Given the description of an element on the screen output the (x, y) to click on. 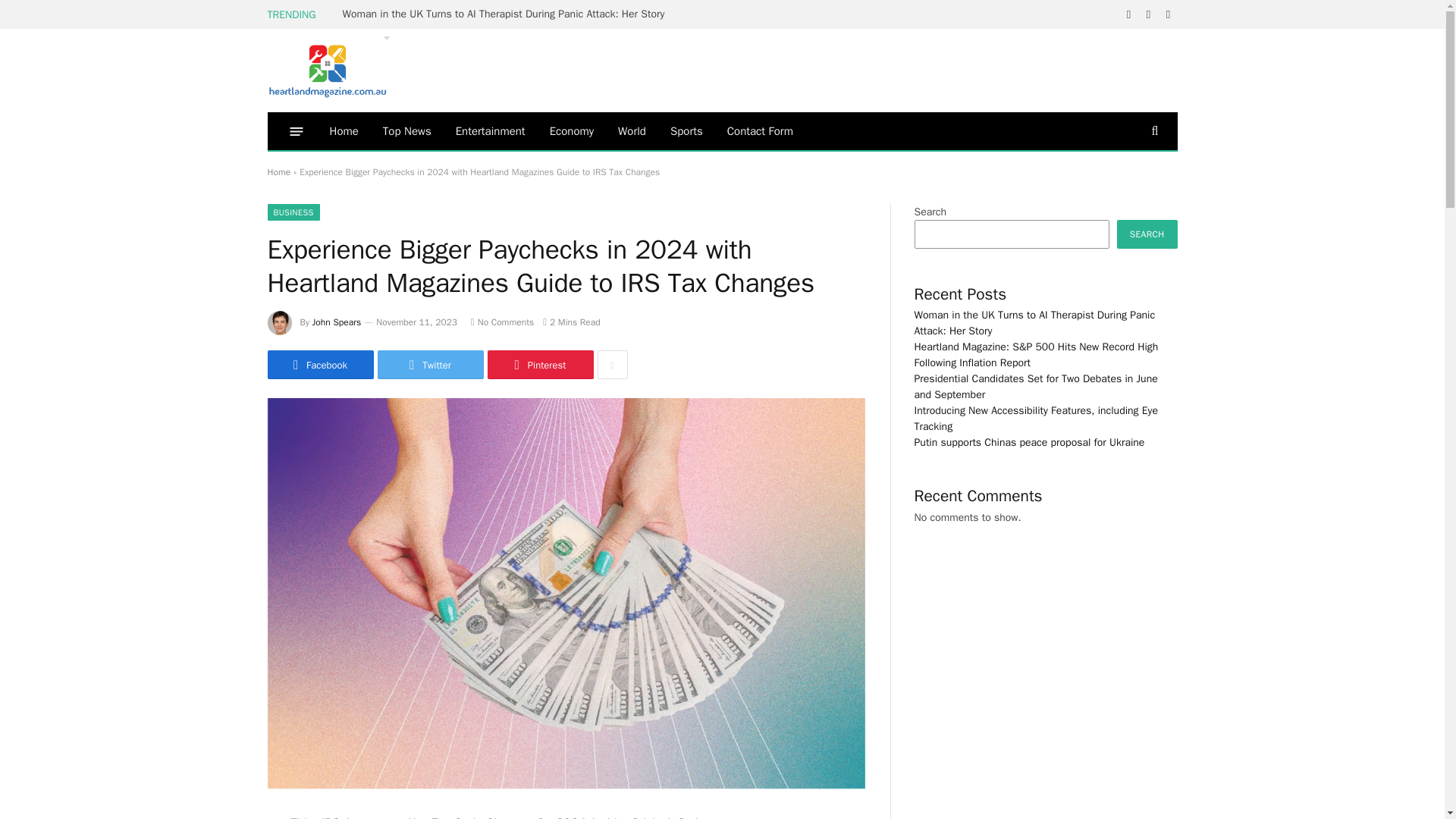
Sports (686, 130)
Share on Pinterest (539, 364)
World (631, 130)
News Releases NSW Northern Rivers (328, 70)
No Comments (502, 322)
Facebook (319, 364)
Home (277, 172)
Home (343, 130)
Economy (571, 130)
John Spears (337, 322)
